Given the description of an element on the screen output the (x, y) to click on. 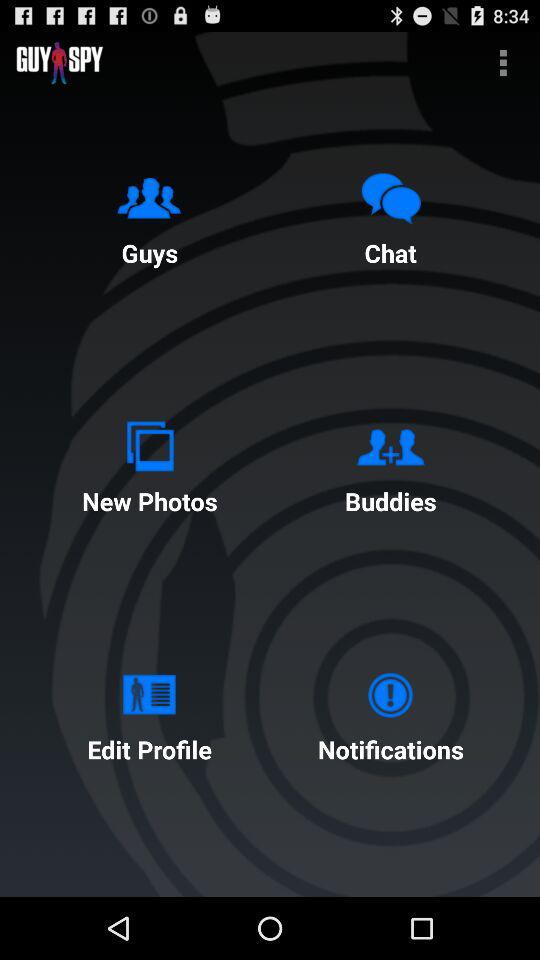
choose the new photos (149, 463)
